Given the description of an element on the screen output the (x, y) to click on. 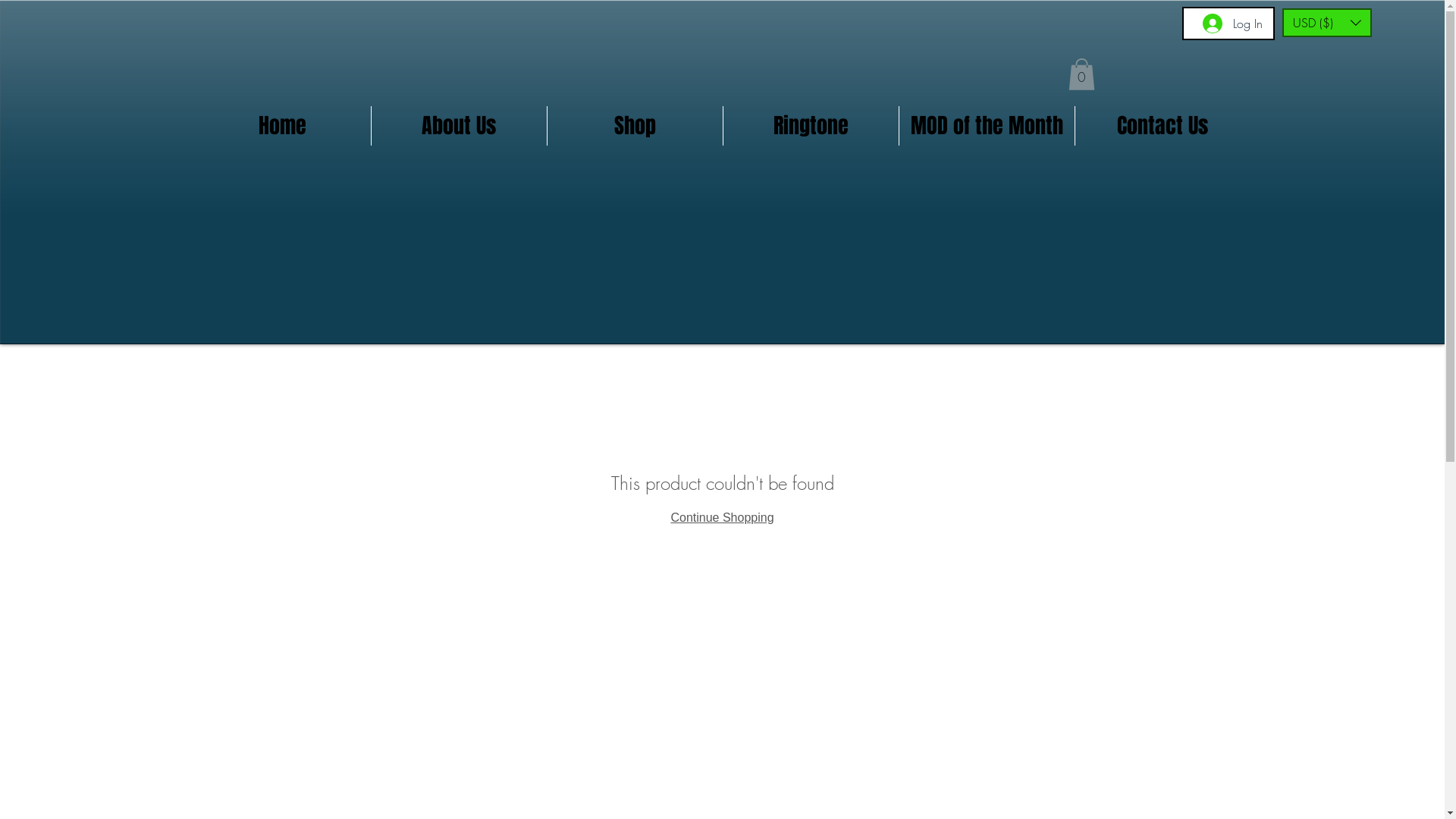
0 Element type: text (1080, 74)
Continue Shopping Element type: text (721, 517)
Log In Element type: text (1232, 23)
About Us Element type: text (458, 125)
MOD of the Month Element type: text (986, 125)
Home Element type: text (400, 371)
Home Element type: text (282, 125)
Ringtone Element type: text (810, 125)
Contact Us Element type: text (1162, 125)
Shop Element type: text (634, 125)
USD ($) Element type: text (1326, 22)
